Given the description of an element on the screen output the (x, y) to click on. 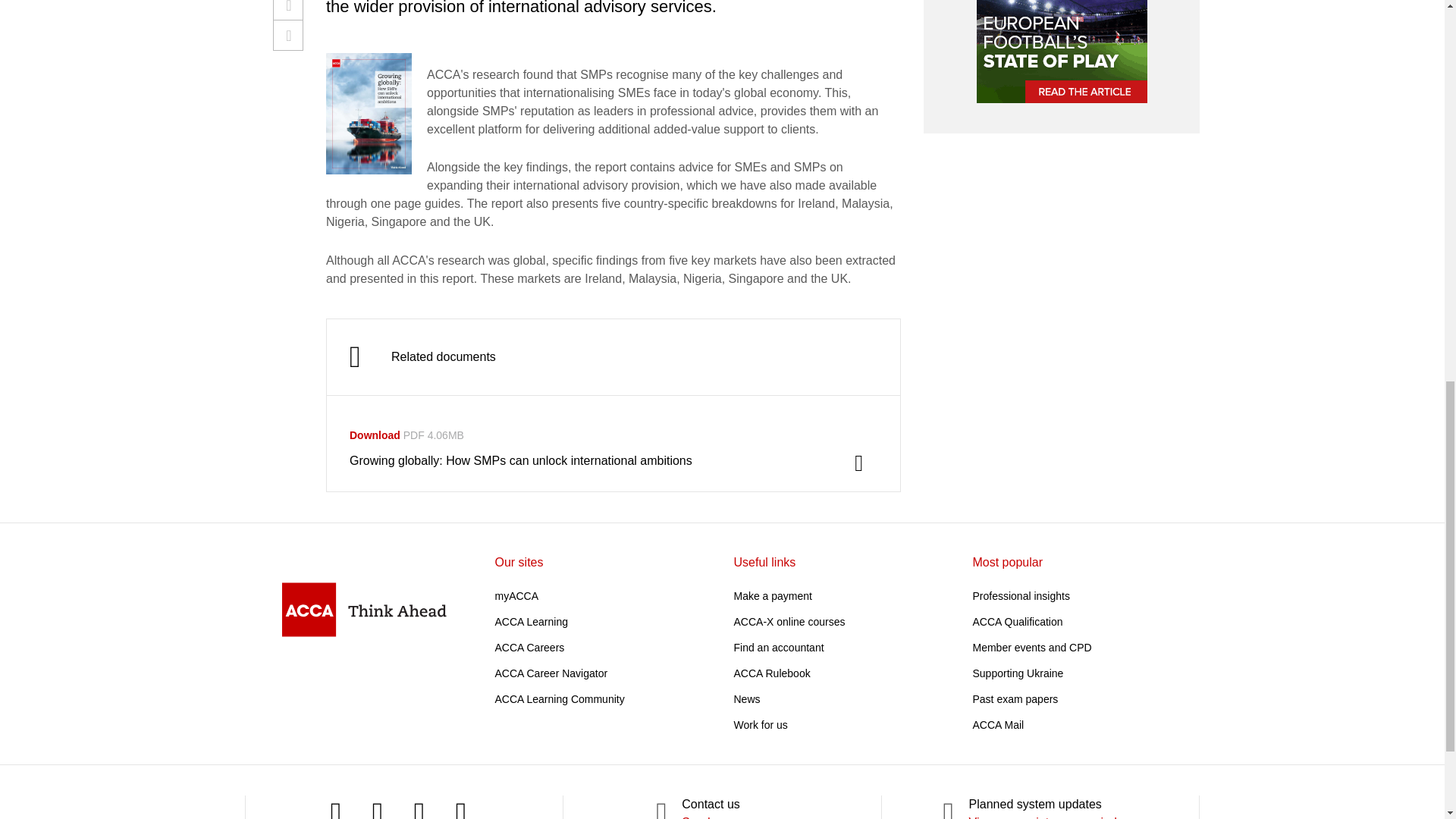
ACCA Rulebook (771, 673)
ACCA Careers (529, 647)
Find an accountant (778, 647)
ACCA-X online courses (789, 621)
ACCA Learning (531, 621)
Make a payment (772, 595)
News (746, 698)
Home Link (364, 609)
ACCA Qualification (1017, 621)
Professional insights (1020, 595)
Work for us (760, 725)
myACCA (516, 595)
ACCA Learning Community (559, 698)
ACCA Career Navigator (551, 673)
